Given the description of an element on the screen output the (x, y) to click on. 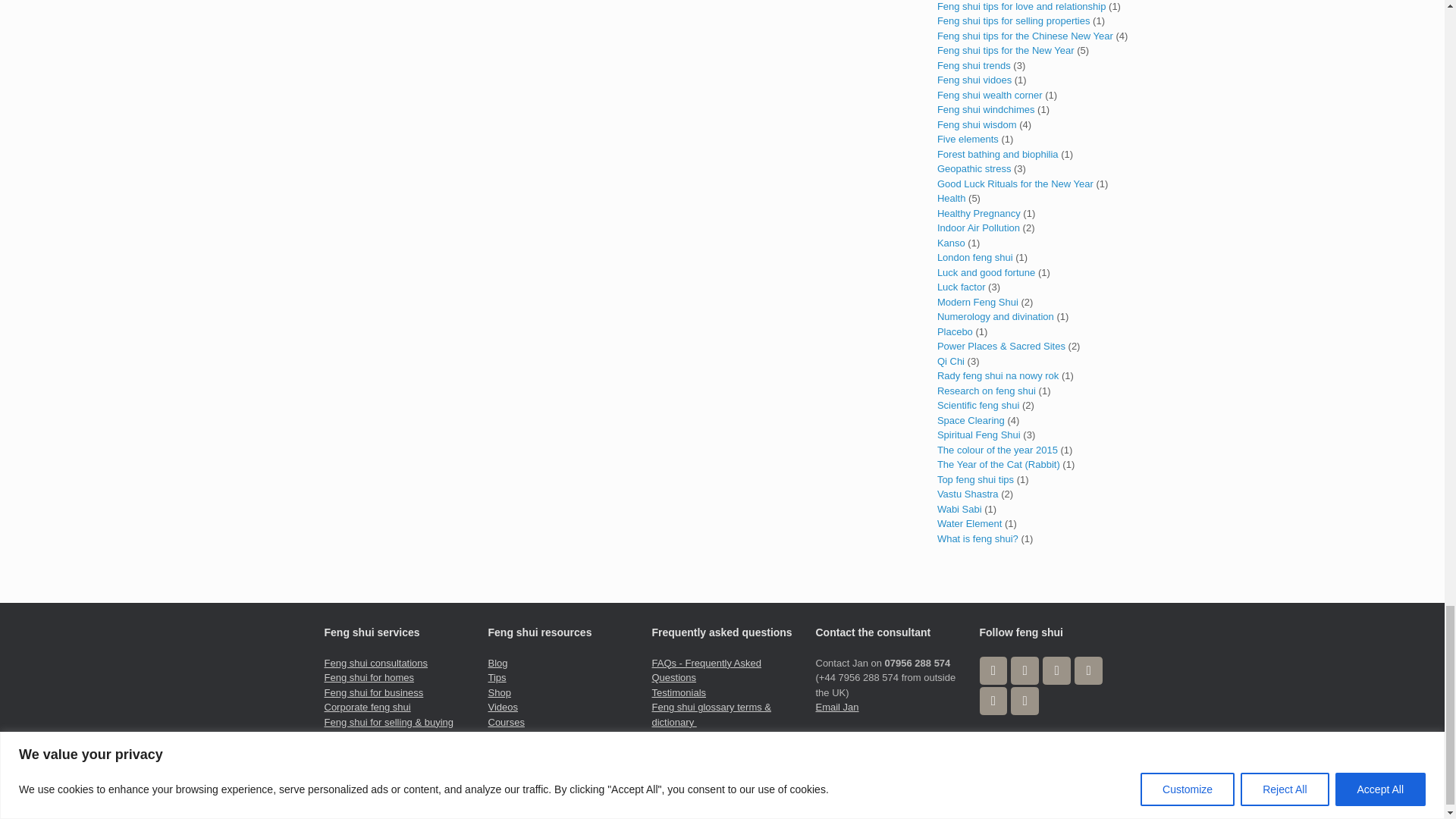
Feng Shui Consultations (376, 662)
Feng Shui For Business (373, 692)
Corporate Feng Shui (367, 706)
Feng Shui Blog (497, 662)
Feng Shui For Selling or Buying Properties (389, 728)
Remote Feng Shui Consultation (382, 759)
Feng Shui For Homes (369, 677)
